Given the description of an element on the screen output the (x, y) to click on. 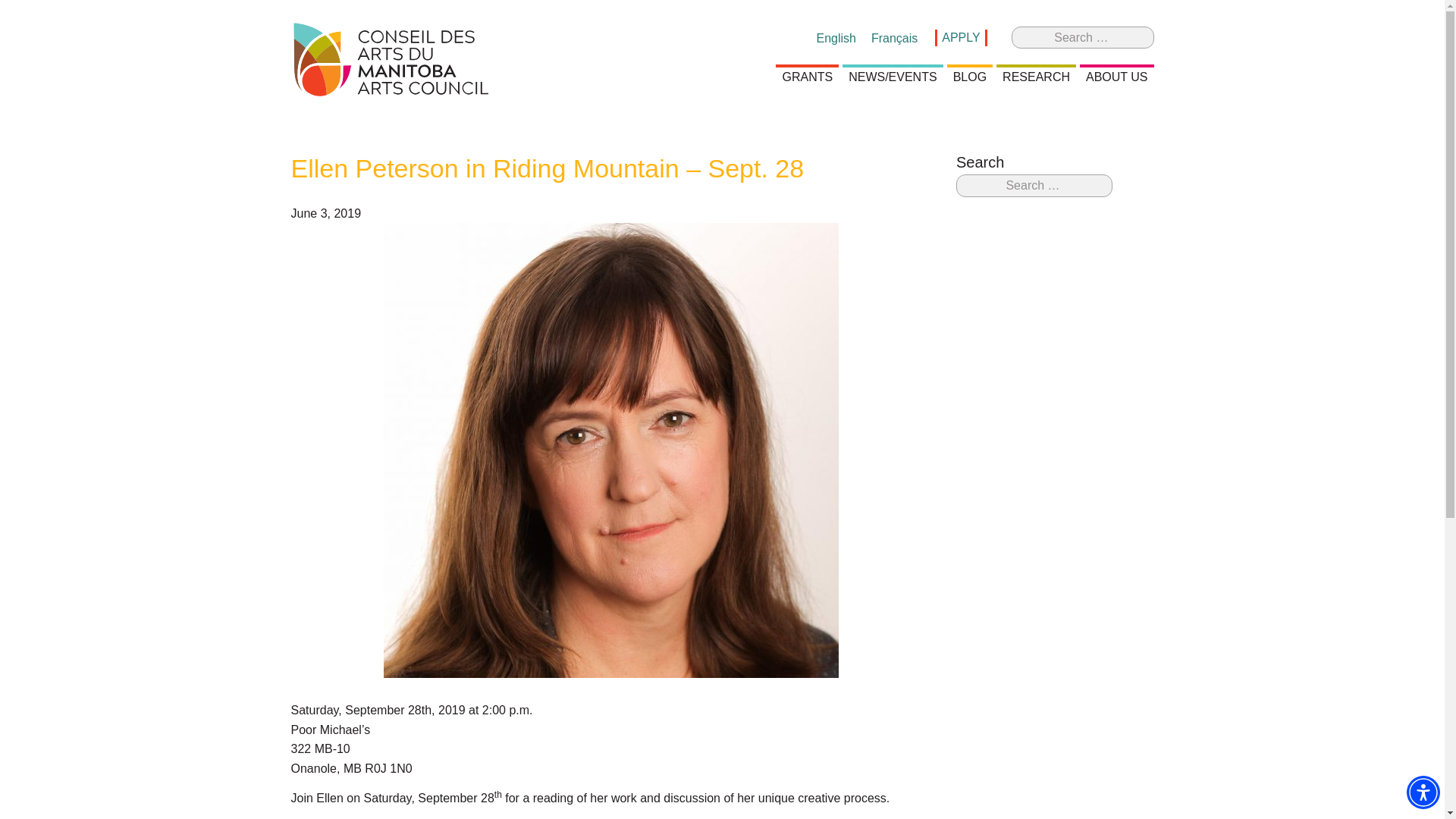
June 3, 2019 (326, 213)
ABOUT US (1117, 77)
GRANTS (807, 77)
APPLY (960, 37)
English (835, 38)
BLOG (969, 77)
Accessibility Menu (1422, 792)
Search (25, 12)
RESEARCH (1035, 77)
